Given the description of an element on the screen output the (x, y) to click on. 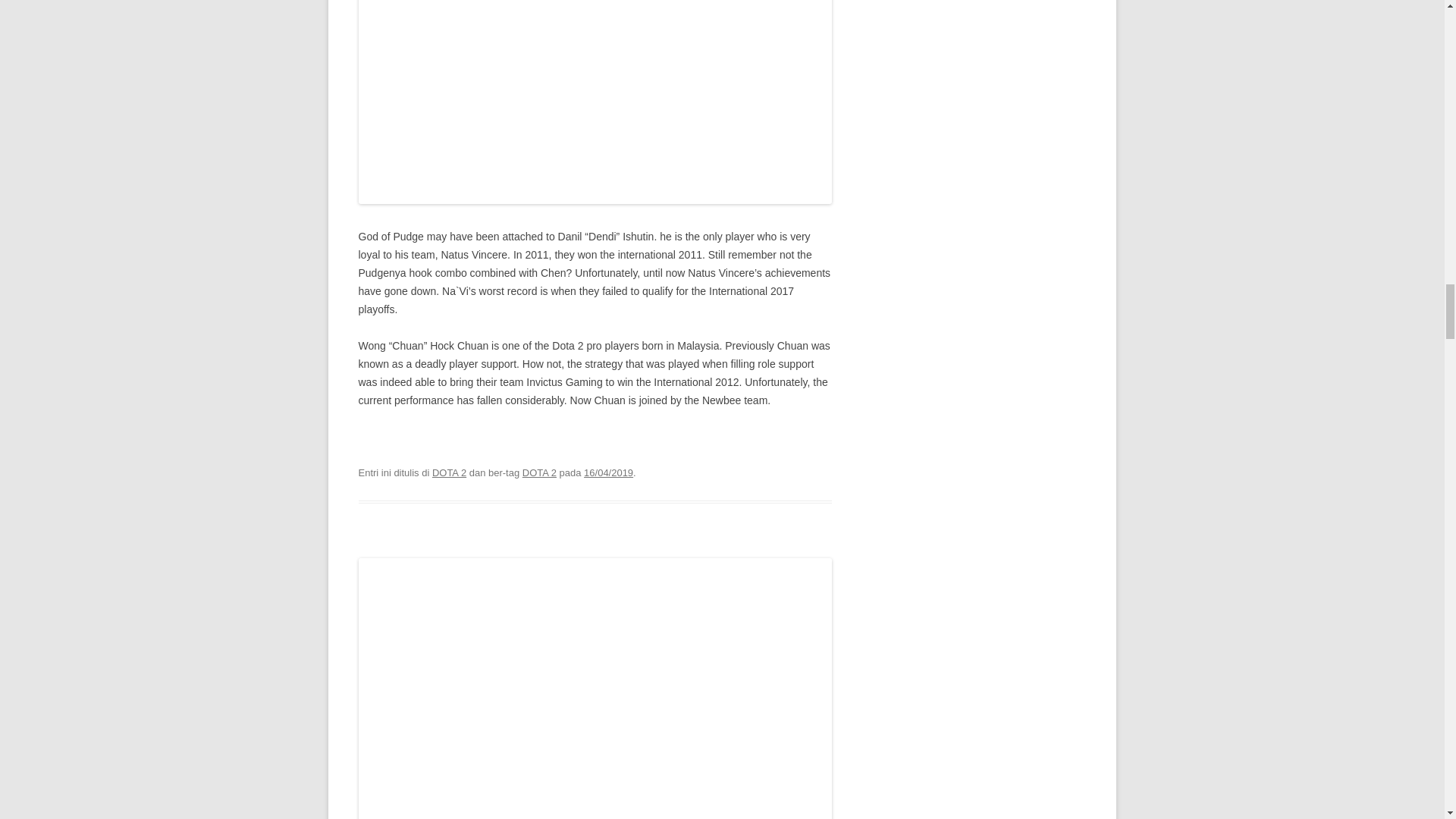
DOTA 2 (539, 472)
04:36 (608, 472)
DOTA 2 (448, 472)
